Given the description of an element on the screen output the (x, y) to click on. 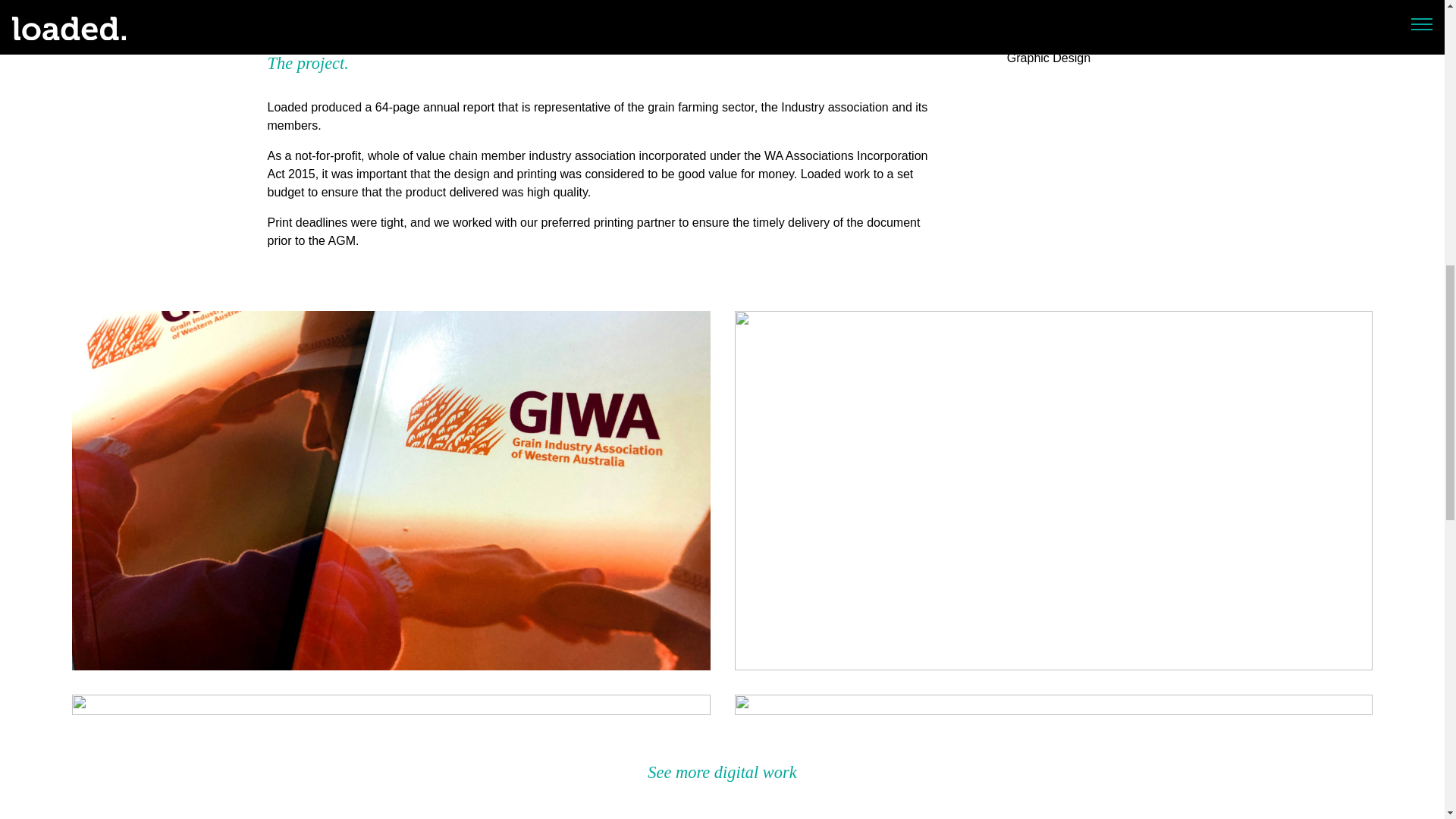
See more digital work (721, 772)
